Given the description of an element on the screen output the (x, y) to click on. 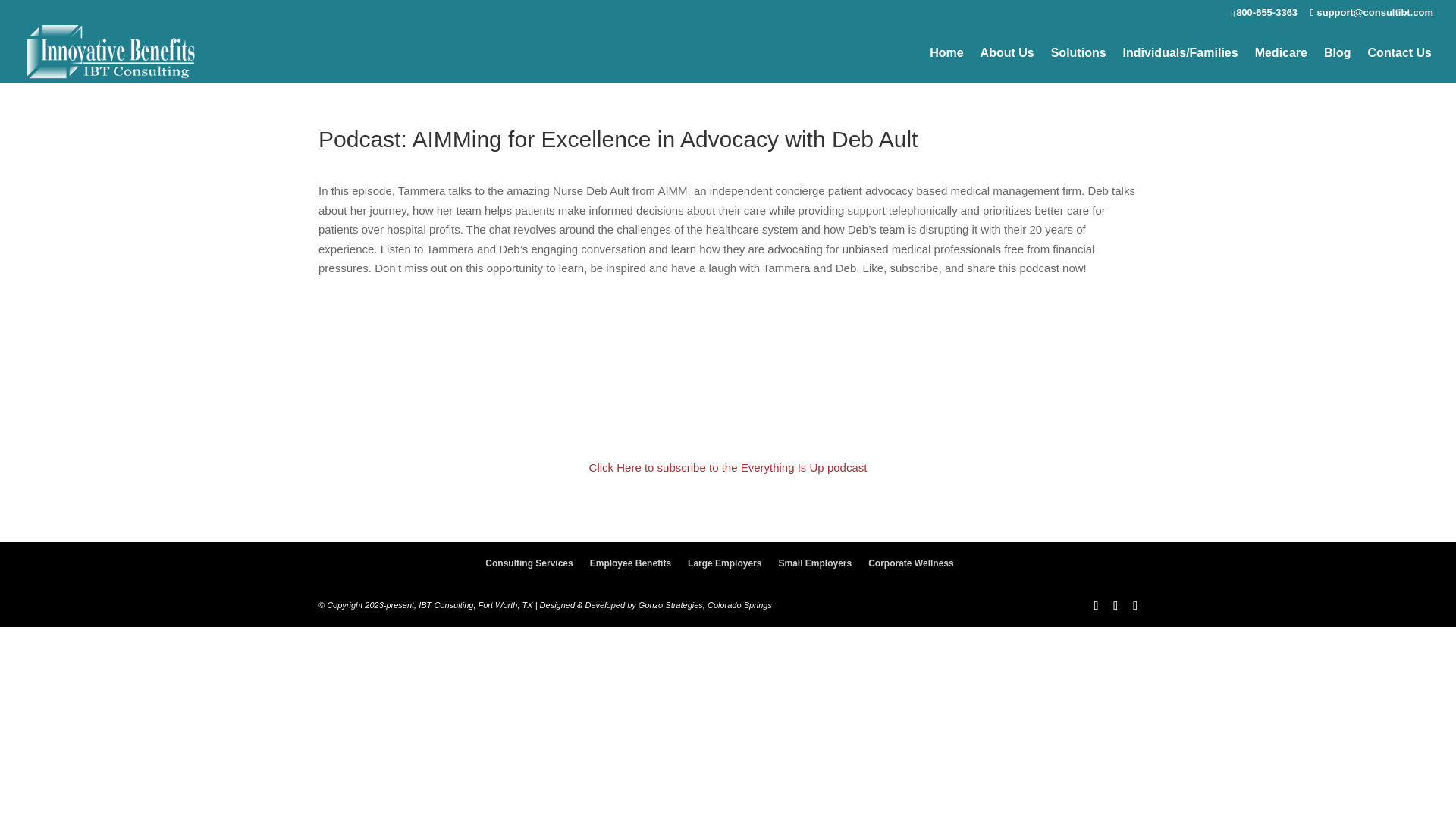
Corporate Wellness (910, 564)
Solutions (1078, 67)
About Us (1006, 67)
Click Here to subscribe to the Everything Is Up podcast (728, 468)
Home (946, 67)
Employee Benefits (630, 564)
Contact Us (1399, 67)
Gonzo Strategies, Colorado Springs (705, 605)
Small Employers (814, 564)
Medicare (1281, 67)
Consulting Services (528, 564)
Large Employers (724, 564)
